Given the description of an element on the screen output the (x, y) to click on. 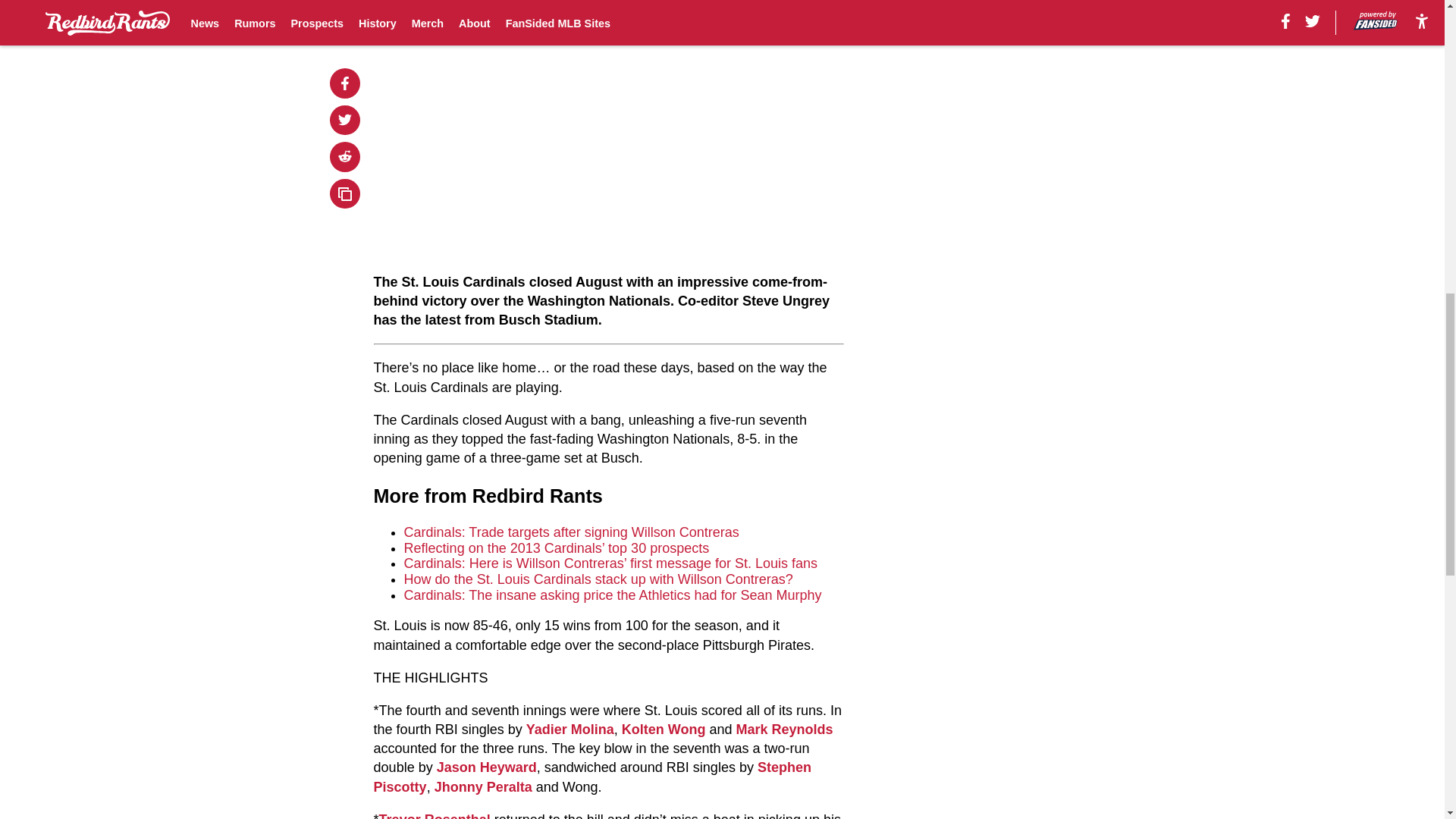
Yadier Molina (569, 729)
Jason Heyward (486, 767)
Jhonny Peralta (482, 786)
Mark Reynolds (783, 729)
Cardinals: Trade targets after signing Willson Contreras (571, 531)
Kolten Wong (663, 729)
Stephen Piscotty (592, 776)
